Given the description of an element on the screen output the (x, y) to click on. 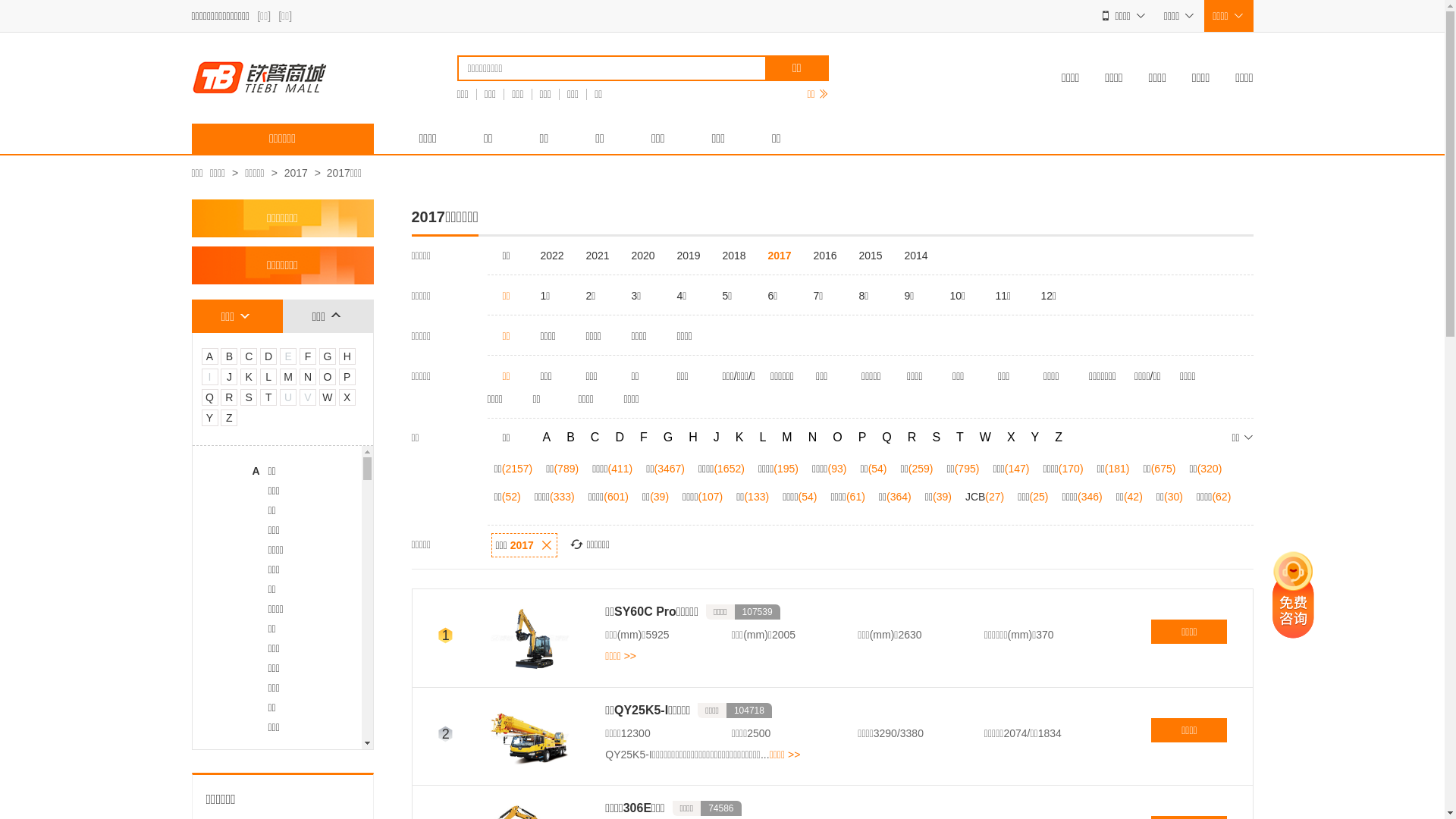
M Element type: text (786, 437)
Q Element type: text (886, 437)
2022 Element type: text (554, 255)
P Element type: text (862, 437)
2021 Element type: text (600, 255)
N Element type: text (812, 437)
F Element type: text (643, 437)
2017 Element type: text (782, 255)
L Element type: text (762, 437)
2019 Element type: text (691, 255)
2015 Element type: text (873, 255)
JCB(27) Element type: text (984, 496)
C Element type: text (594, 437)
2020 Element type: text (645, 255)
B Element type: text (570, 437)
Y Element type: text (1035, 437)
S Element type: text (935, 437)
J Element type: text (716, 437)
2016 Element type: text (827, 255)
W Element type: text (985, 437)
O Element type: text (836, 437)
T Element type: text (959, 437)
R Element type: text (911, 437)
A Element type: text (546, 437)
K Element type: text (739, 437)
H Element type: text (692, 437)
Z Element type: text (1058, 437)
2014 Element type: text (918, 255)
D Element type: text (619, 437)
X Element type: text (1011, 437)
2018 Element type: text (736, 255)
2017 Element type: text (295, 172)
G Element type: text (667, 437)
